Given the description of an element on the screen output the (x, y) to click on. 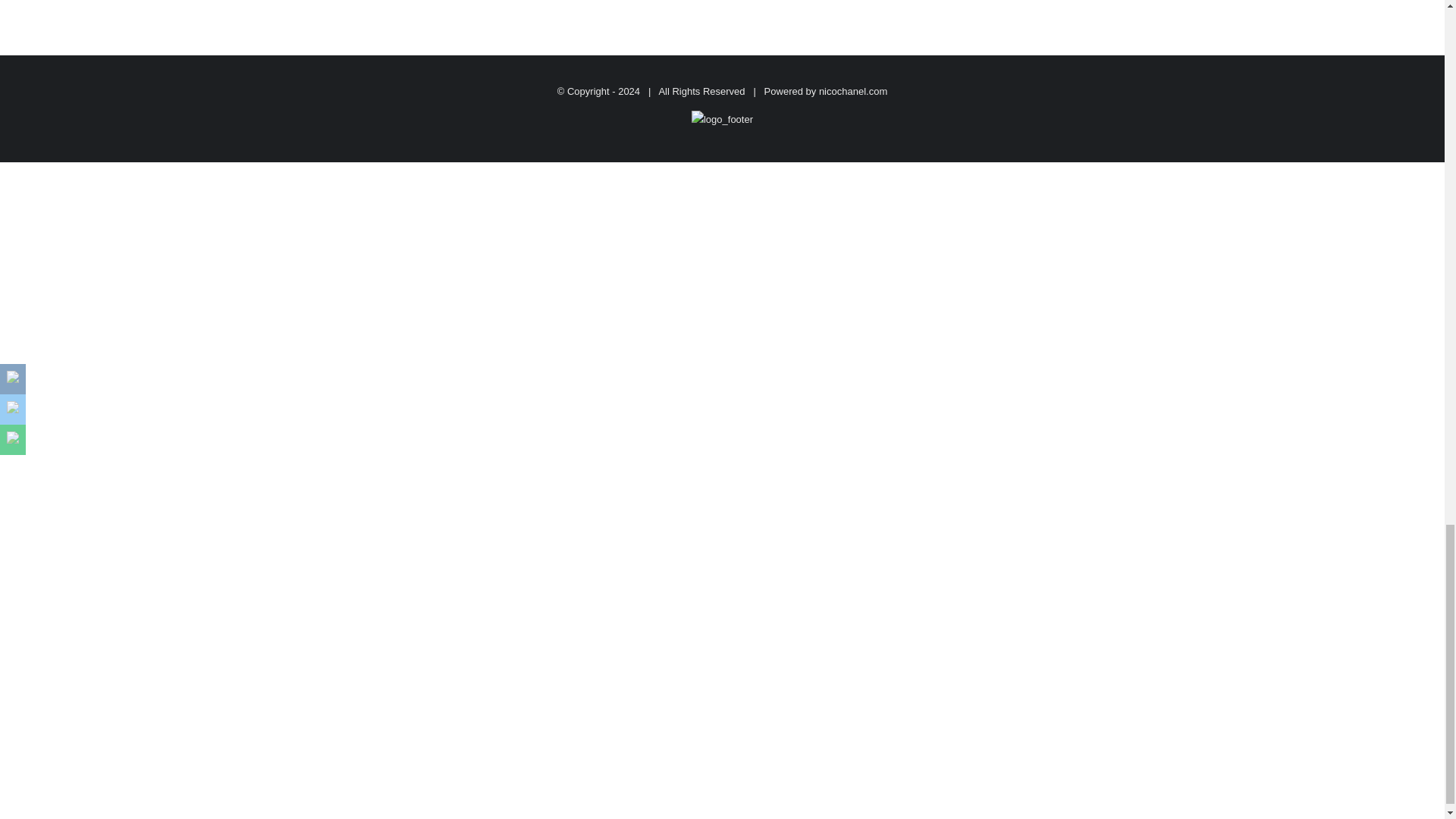
nicochanel.com (852, 91)
